Given the description of an element on the screen output the (x, y) to click on. 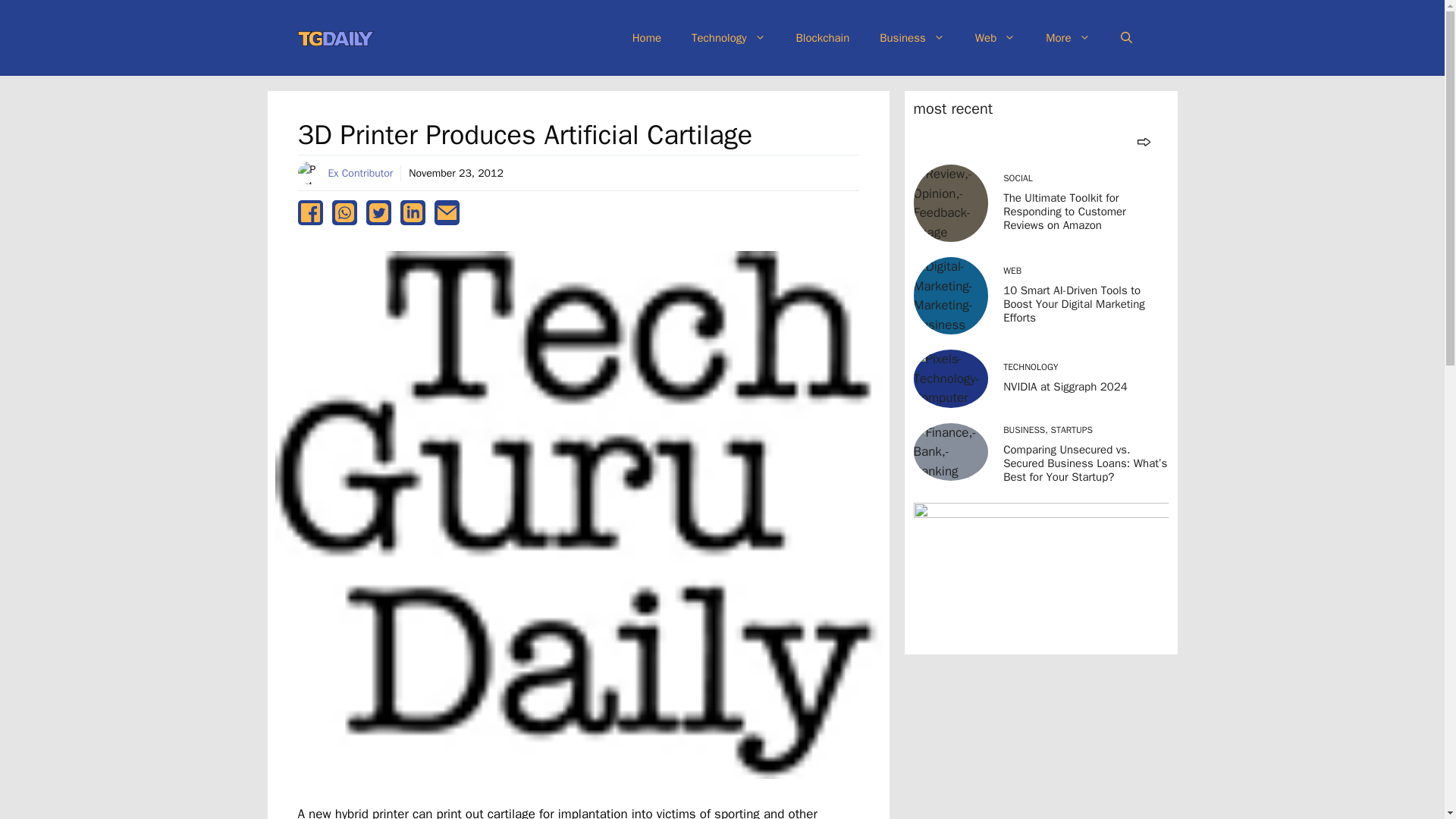
Business (911, 37)
Blockchain (822, 37)
Home (647, 37)
Technology (728, 37)
More (1067, 37)
Web (994, 37)
purple-600x400-1 (1039, 573)
